Given the description of an element on the screen output the (x, y) to click on. 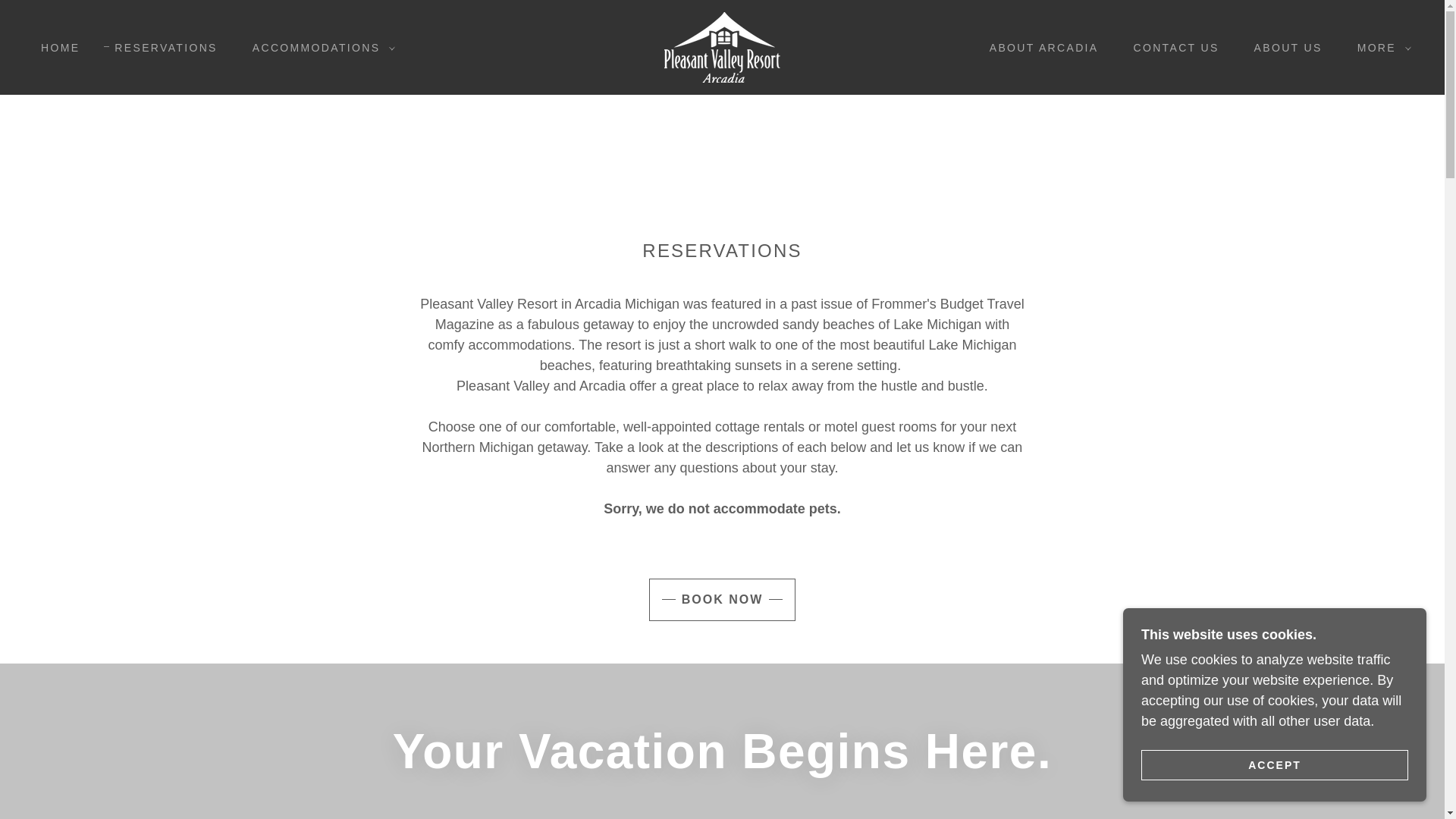
Pleasant Valley Resort (721, 46)
ABOUT ARCADIA (1038, 46)
ACCOMMODATIONS (319, 46)
ABOUT US (1282, 46)
CONTACT US (1170, 46)
RESERVATIONS (159, 46)
HOME (55, 46)
MORE (1379, 46)
